Given the description of an element on the screen output the (x, y) to click on. 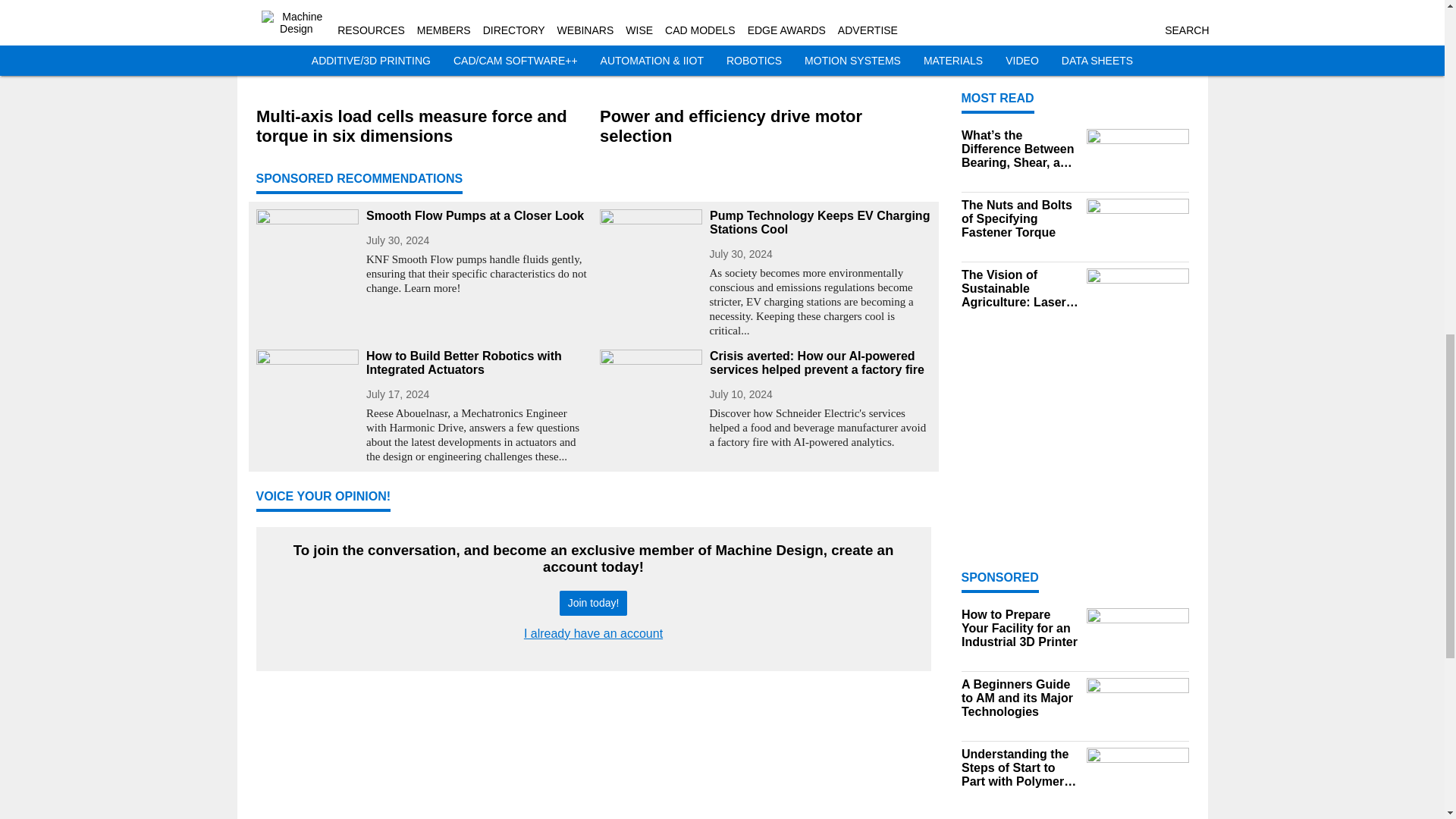
How to Build Better Robotics with Integrated Actuators (476, 362)
Smooth Flow Pumps at a Closer Look (476, 215)
I already have an account (593, 633)
Power and efficiency drive motor selection (764, 126)
Pump Technology Keeps EV Charging Stations Cool (820, 222)
Join today! (593, 602)
